Given the description of an element on the screen output the (x, y) to click on. 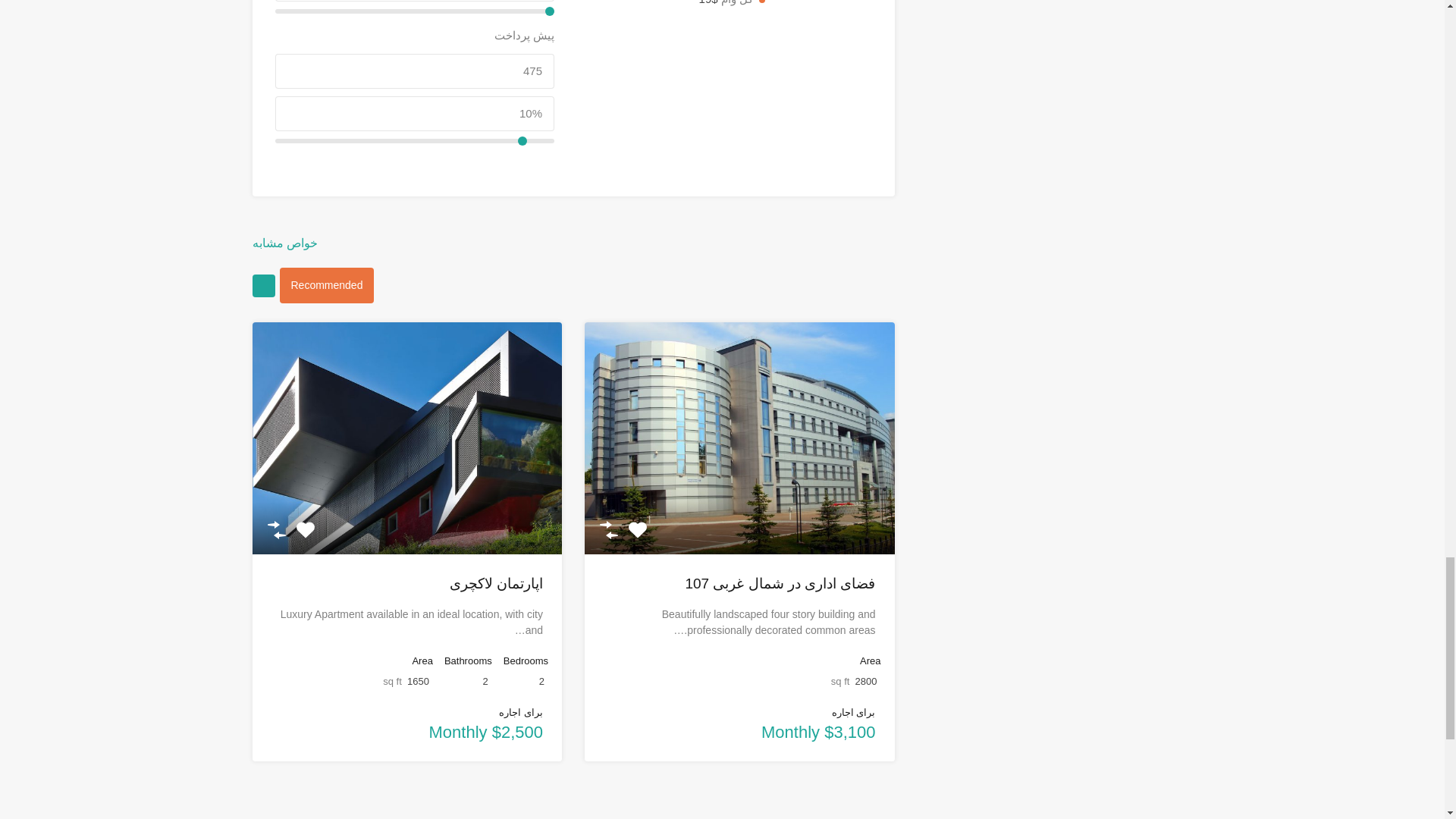
100000 (414, 11)
10 (414, 140)
475 (414, 71)
